Given the description of an element on the screen output the (x, y) to click on. 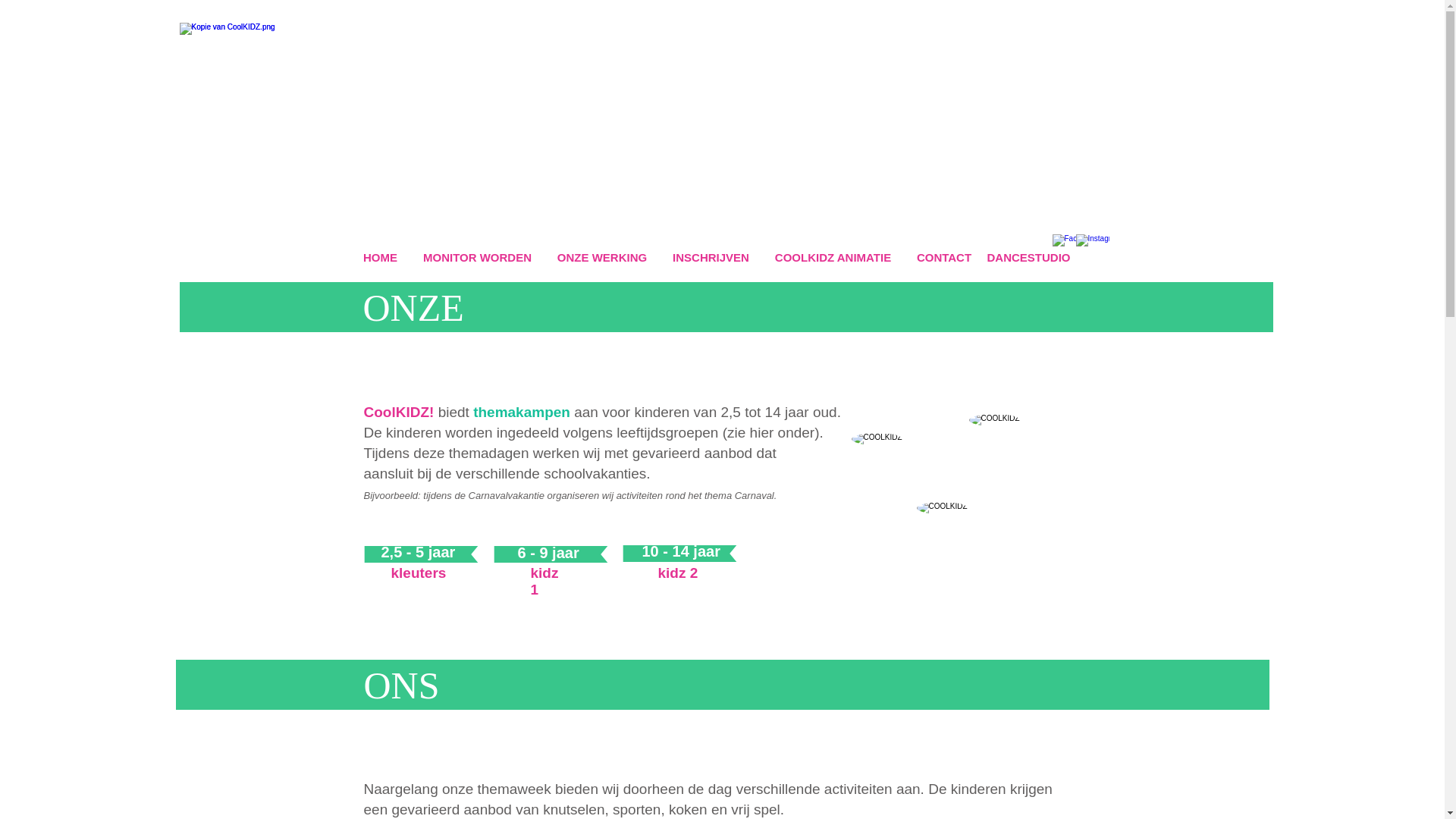
CONTACT Element type: text (943, 257)
COOLKIDZ ANIMATIE Element type: text (832, 257)
INSCHRIJVEN Element type: text (710, 257)
ONZE WERKING Element type: text (601, 257)
HOME Element type: text (379, 257)
MONITOR WORDEN Element type: text (477, 257)
DANCESTUDIO Element type: text (1028, 257)
